Given the description of an element on the screen output the (x, y) to click on. 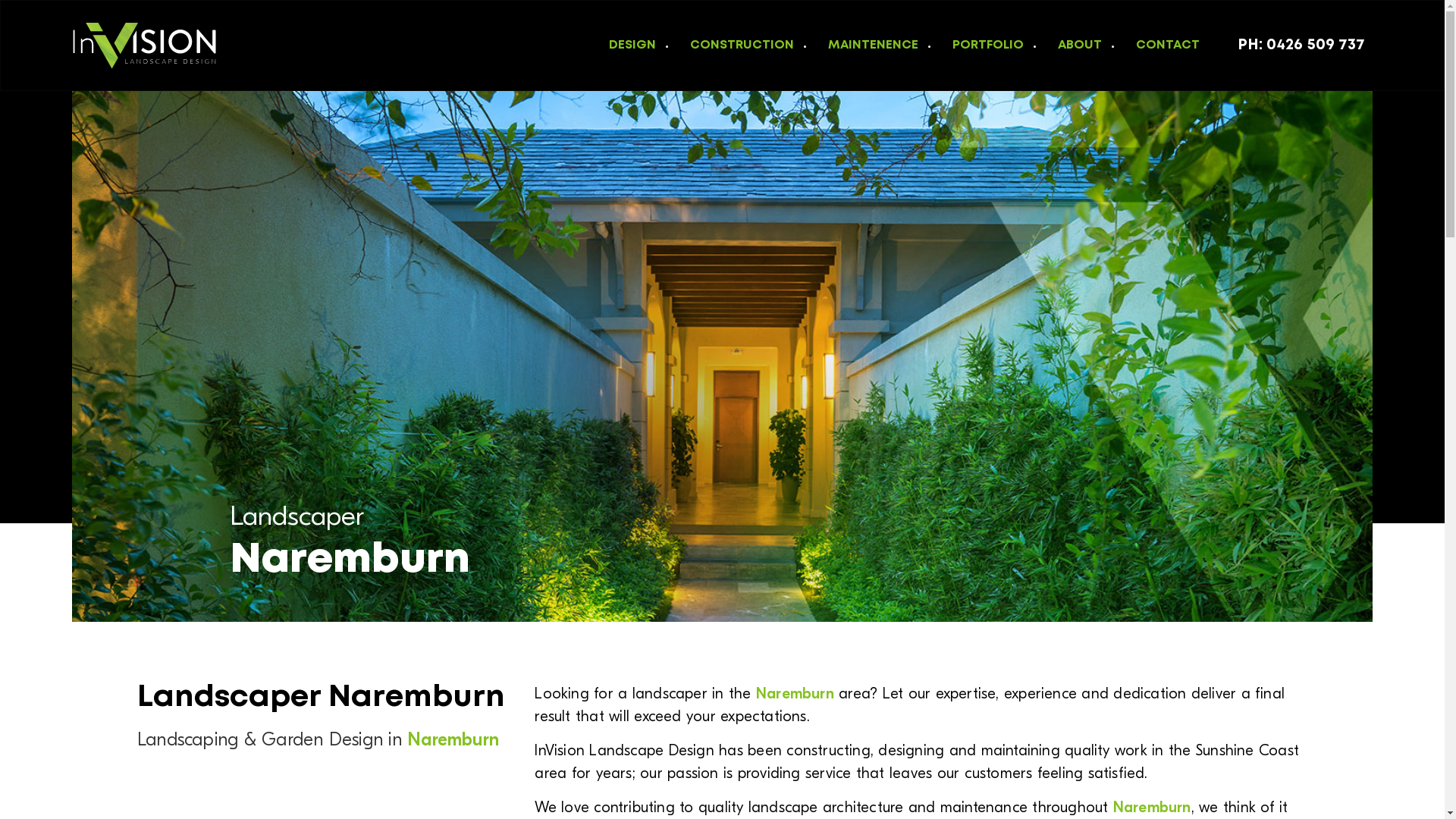
DESIGN Element type: text (626, 44)
CONSTRUCTION Element type: text (736, 44)
MAINTENENCE Element type: text (867, 44)
ABOUT Element type: text (1074, 44)
PORTFOLIO Element type: text (982, 44)
PH: 0426 509 737 Element type: text (1301, 45)
CONTACT Element type: text (1162, 44)
